Given the description of an element on the screen output the (x, y) to click on. 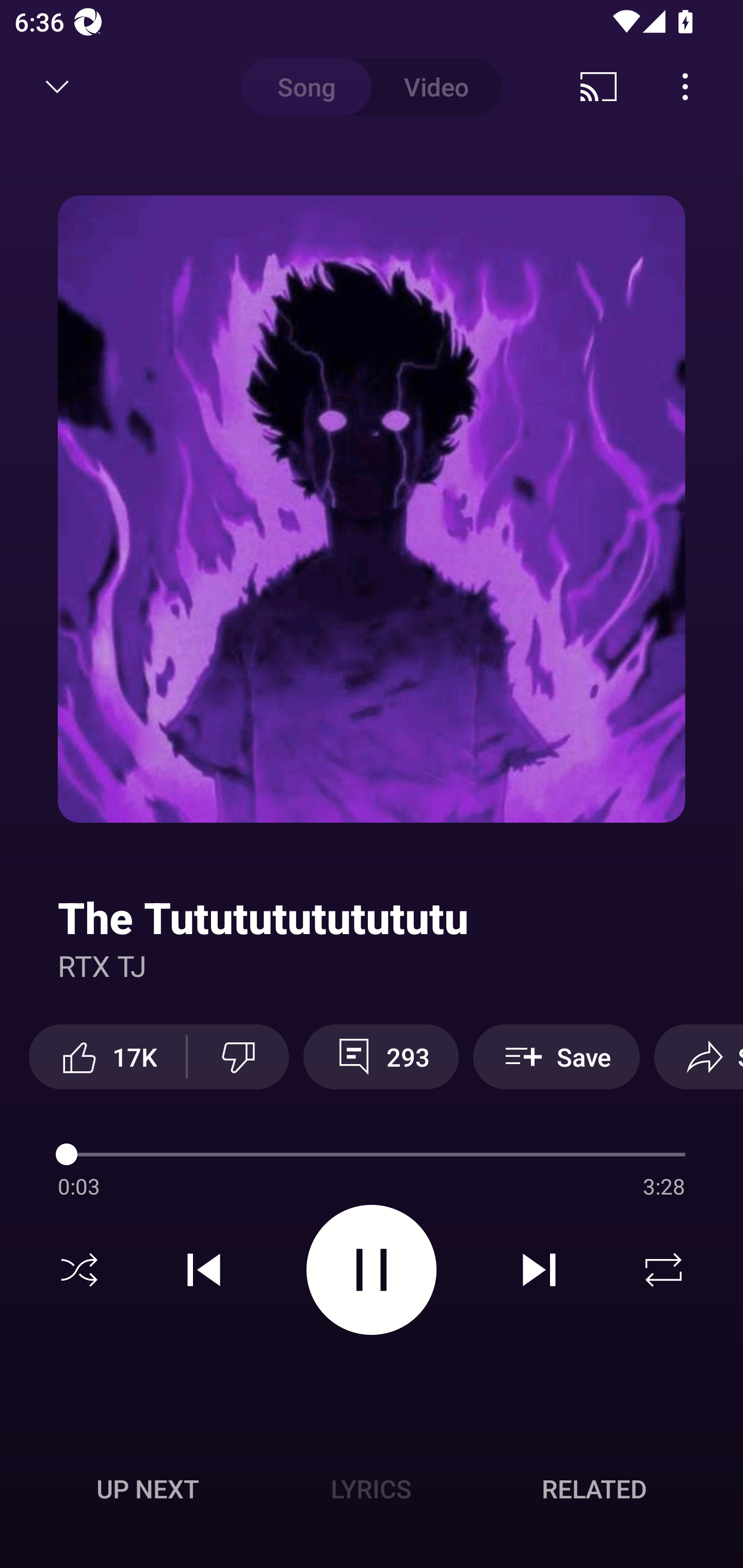
Minimize (57, 86)
Cast. Disconnected (598, 86)
Menu (684, 86)
17K like this video along with 17,364 other people (106, 1056)
Dislike (238, 1056)
293 View 293 comments (380, 1056)
Save Save to playlist (556, 1056)
Share (698, 1056)
Pause video (371, 1269)
Shuffle off (79, 1269)
Previous track (203, 1269)
Next track (538, 1269)
Repeat off (663, 1269)
Up next UP NEXT Lyrics LYRICS Related RELATED (371, 1491)
Lyrics LYRICS (370, 1488)
Related RELATED (594, 1488)
